Given the description of an element on the screen output the (x, y) to click on. 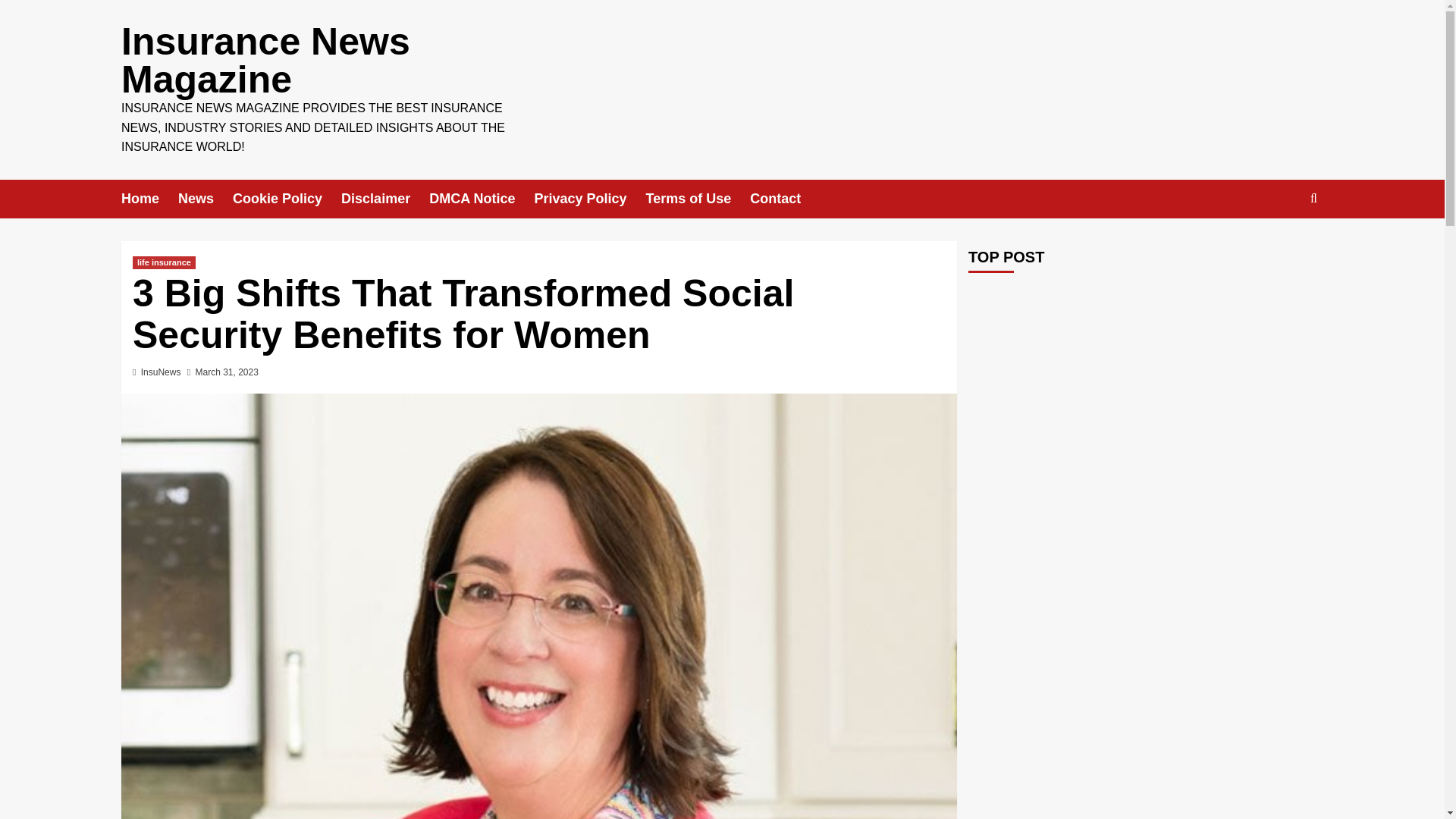
Cookie Policy (286, 198)
Disclaimer (384, 198)
Terms of Use (698, 198)
Privacy Policy (589, 198)
Contact (784, 198)
News (204, 198)
Home (148, 198)
DMCA Notice (481, 198)
March 31, 2023 (227, 371)
InsuNews (160, 371)
Insurance News Magazine (265, 60)
life insurance (163, 262)
Search (1278, 245)
